Given the description of an element on the screen output the (x, y) to click on. 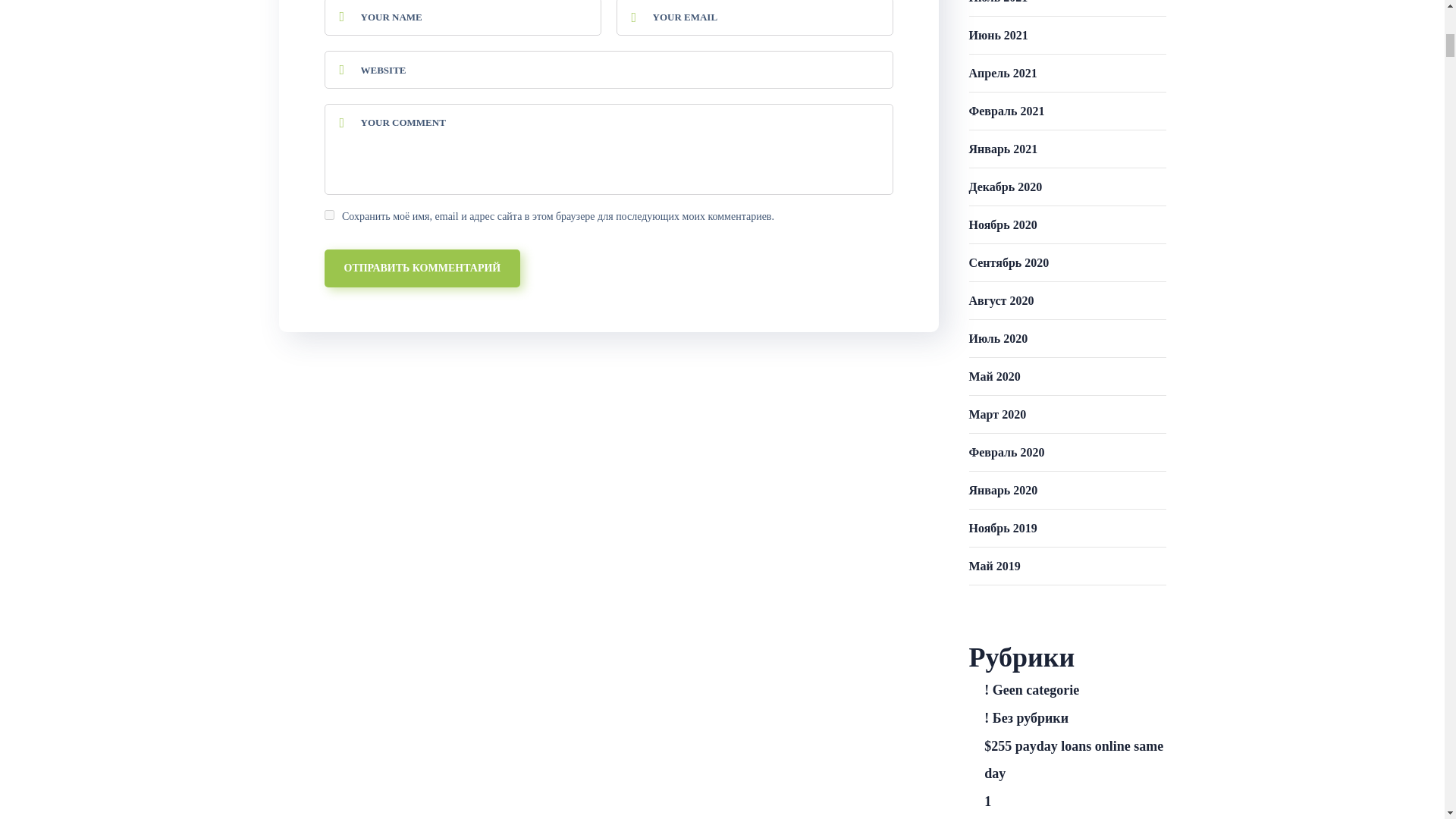
WEBSITE (608, 69)
YOUR NAME (462, 18)
YOUR EMAIL (753, 18)
yes (329, 214)
